Given the description of an element on the screen output the (x, y) to click on. 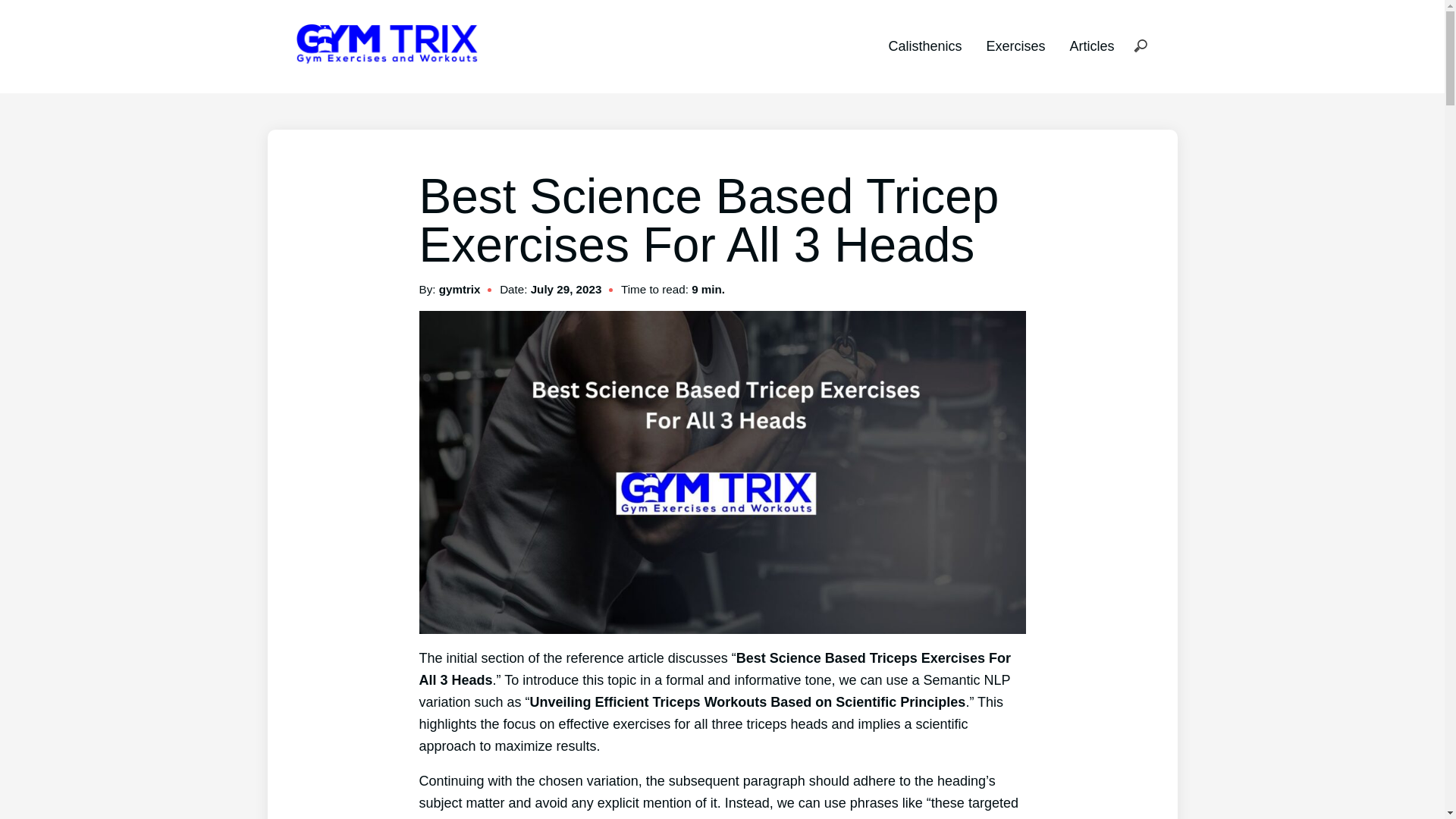
Search for: (1139, 46)
Exercises (1015, 46)
Articles (1090, 46)
Calisthenics (924, 46)
